Given the description of an element on the screen output the (x, y) to click on. 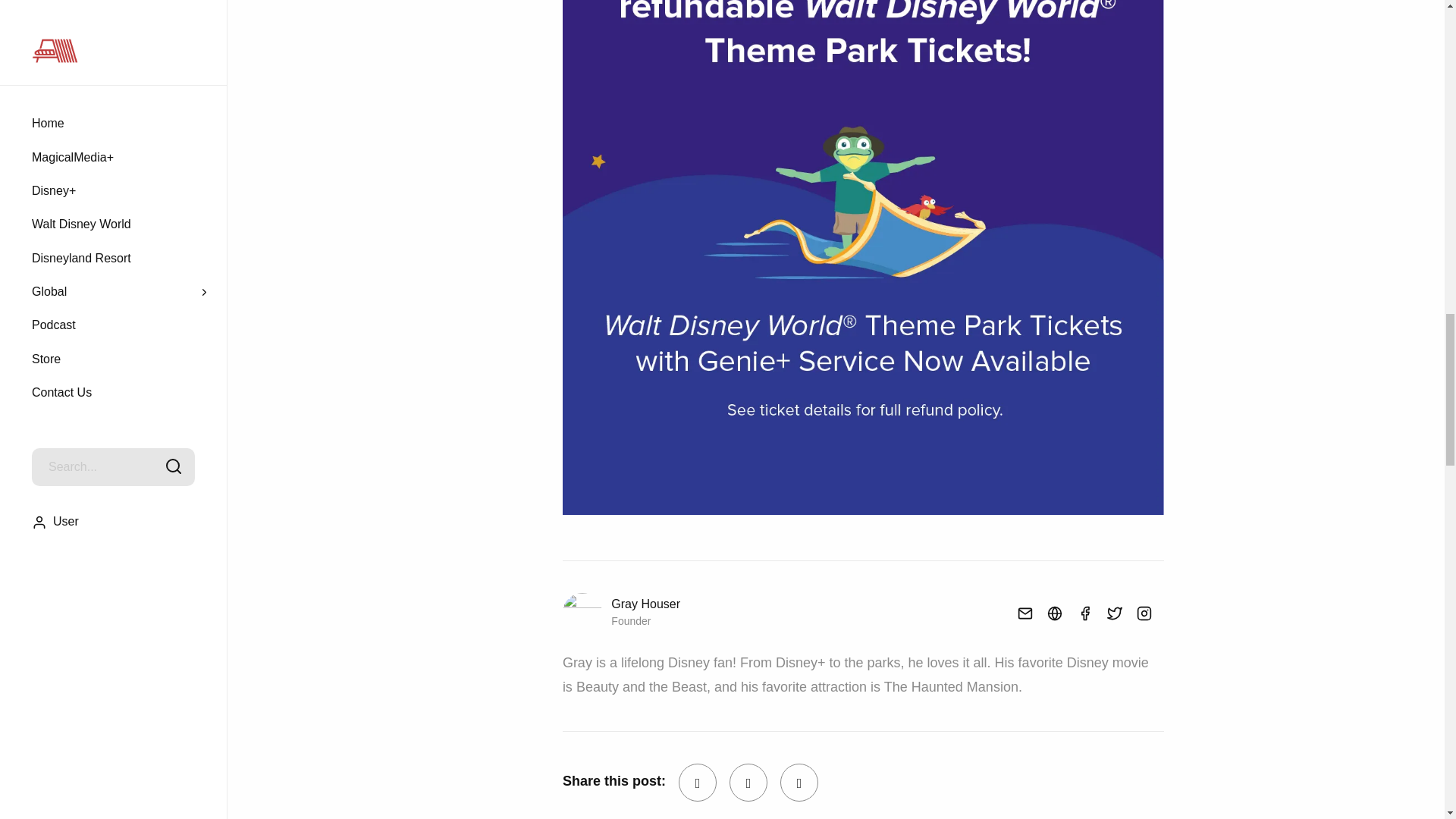
Follow Gray Houser on Instagram (1138, 613)
Write an email to Gray Houser (1019, 613)
Share this post on Twitter (748, 782)
Follow Gray Houser on Twitter (1109, 613)
Share this post on Facebook (697, 782)
Follow Gray Houser on Facebook (1079, 613)
Author's homepage  (1048, 613)
